Given the description of an element on the screen output the (x, y) to click on. 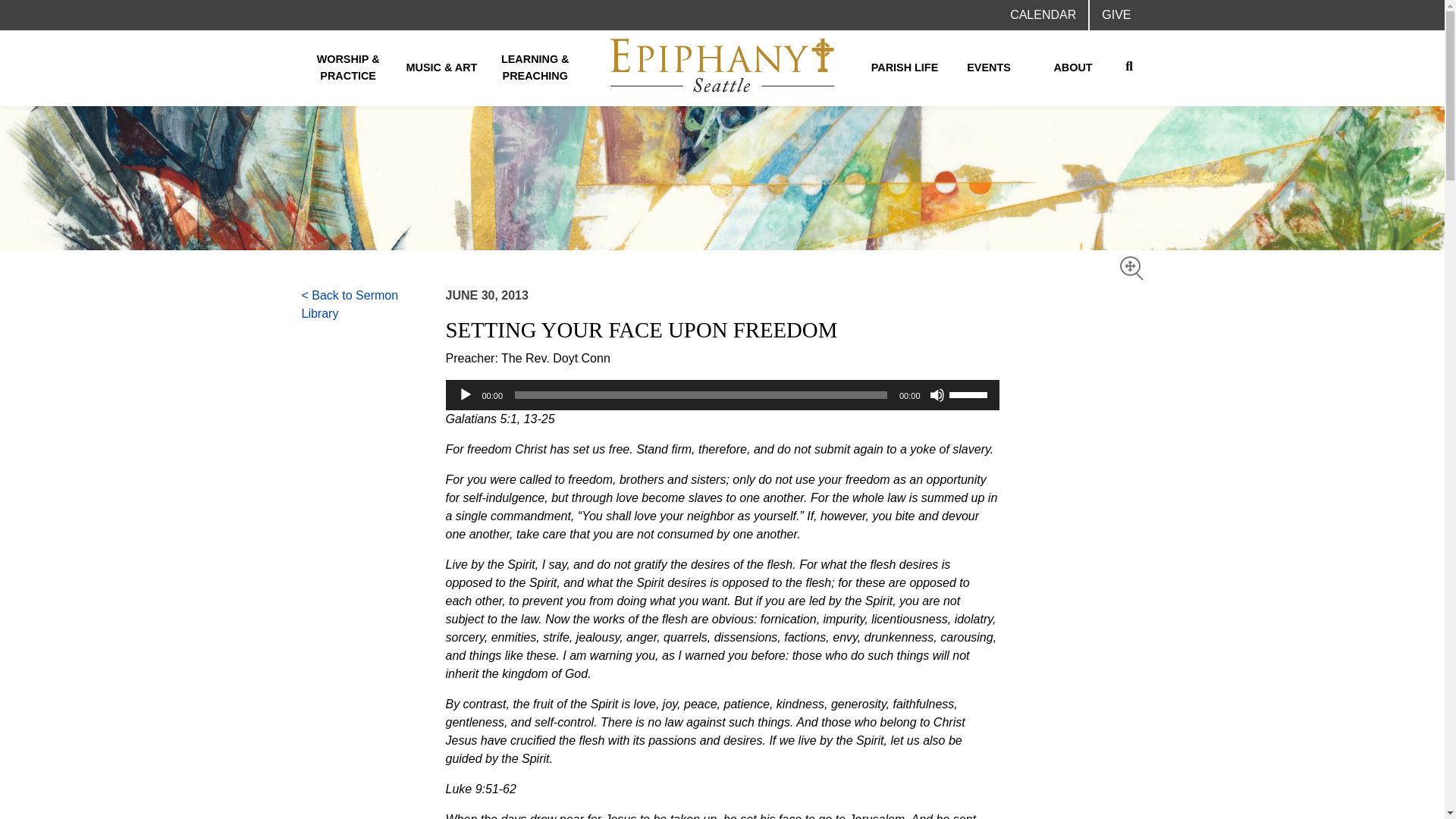
Calendar (1042, 14)
CALENDAR (1042, 14)
Give (1115, 14)
GIVE (1115, 14)
